Given the description of an element on the screen output the (x, y) to click on. 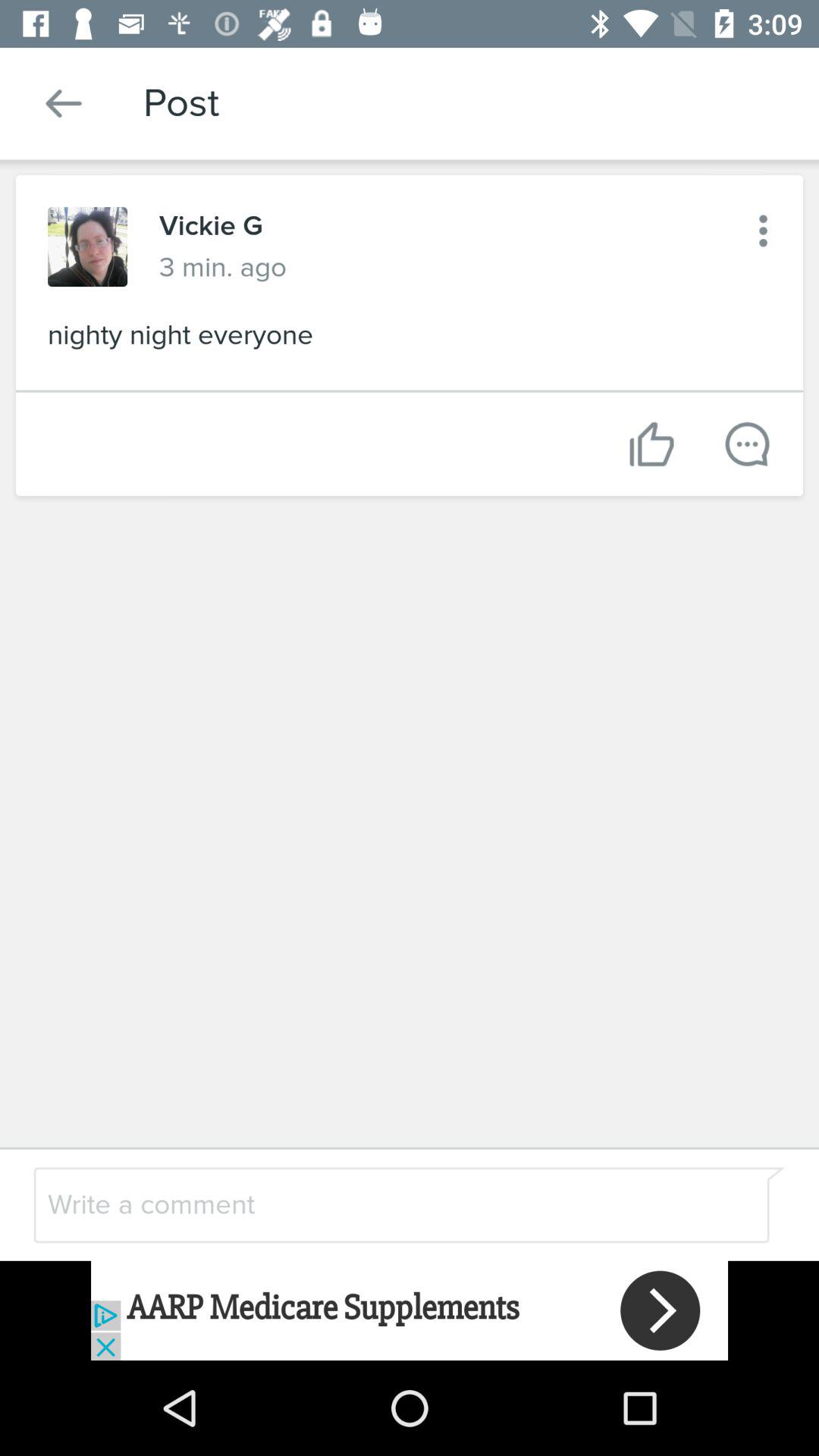
show the profile picture (87, 246)
